Given the description of an element on the screen output the (x, y) to click on. 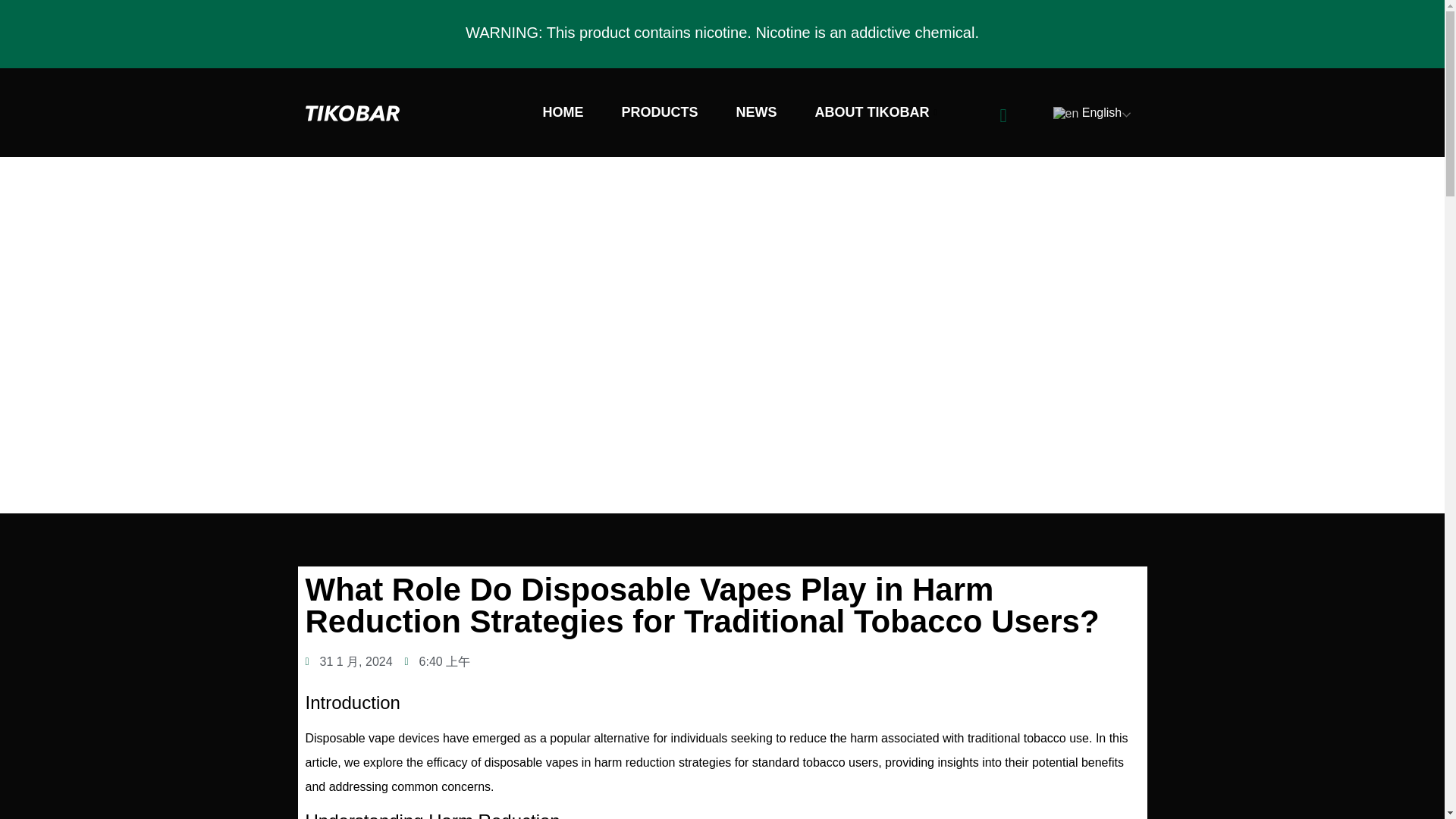
NEWS (755, 112)
English (1113, 113)
PRODUCTS (659, 112)
HOME (562, 112)
ABOUT TIKOBAR (877, 112)
